Given the description of an element on the screen output the (x, y) to click on. 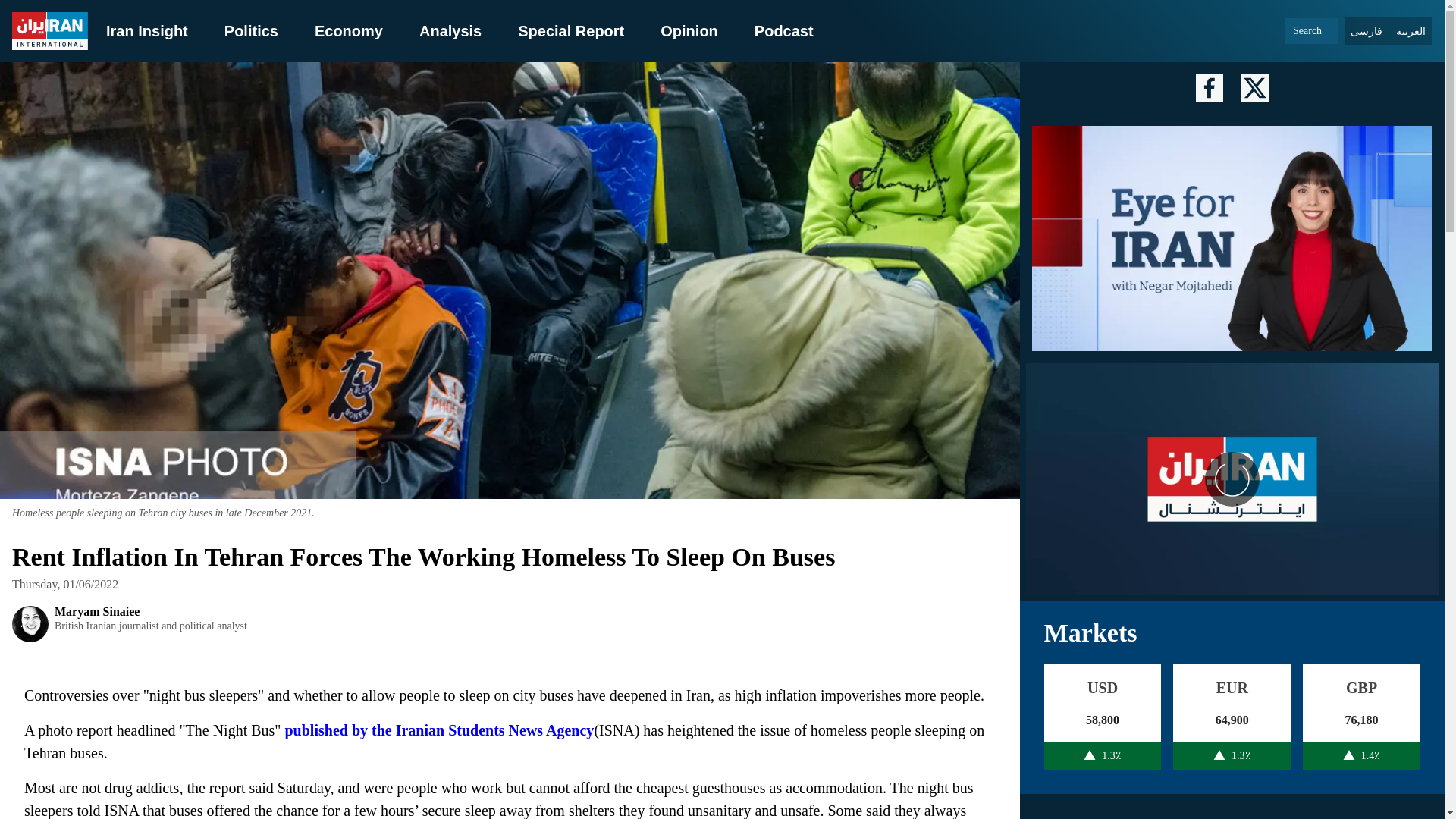
Economy (348, 30)
Podcast (783, 30)
Live TV (1232, 479)
Special Report (571, 30)
Analysis (450, 30)
Iran Insight (146, 30)
published by the Iranian Students News Agency (439, 729)
Opinion (689, 30)
Politics (251, 30)
